Given the description of an element on the screen output the (x, y) to click on. 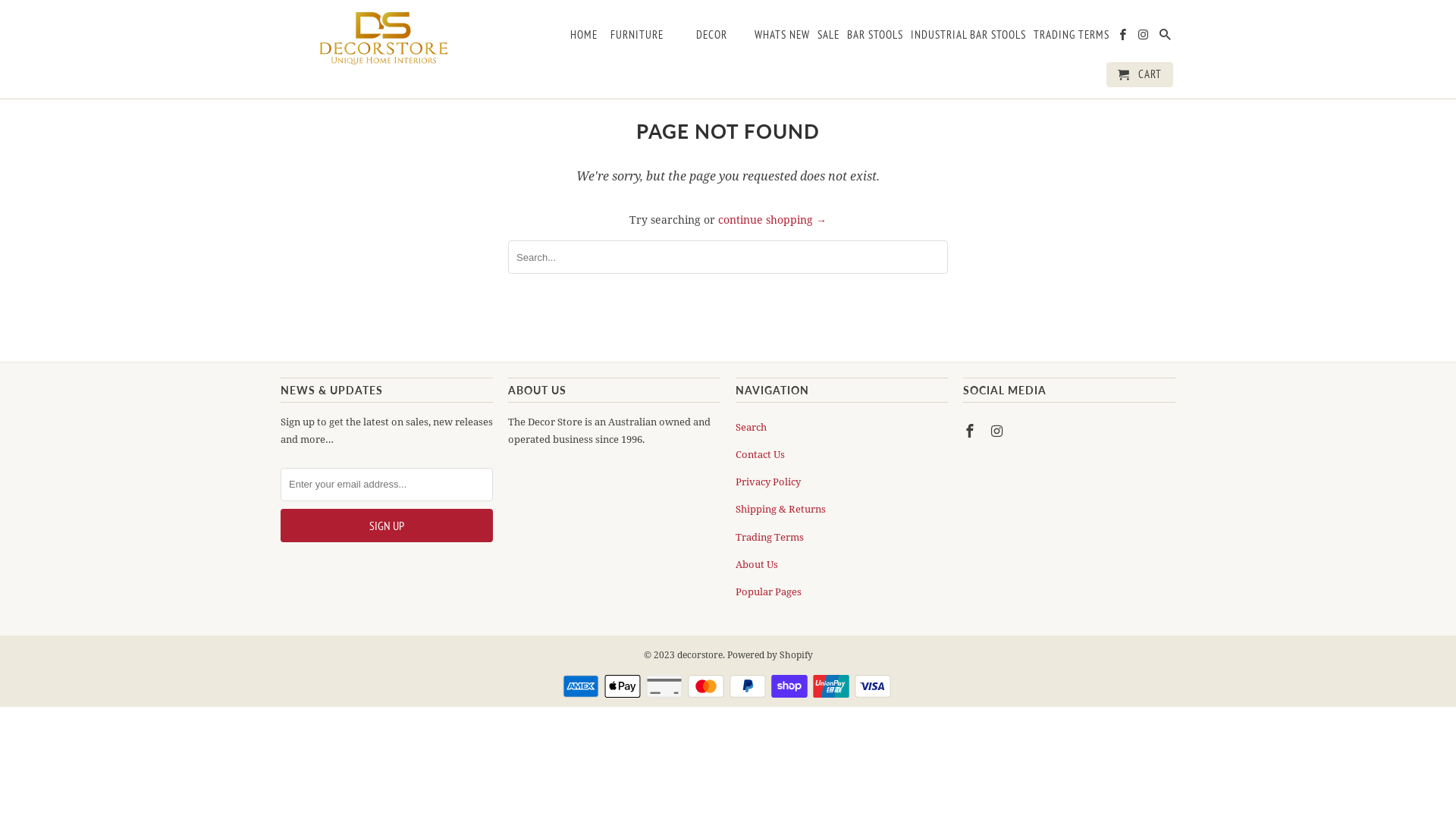
decorstore on Facebook Element type: hover (971, 430)
BAR STOOLS Element type: text (875, 37)
decorstore Element type: text (698, 654)
CART Element type: text (1139, 74)
TRADING TERMS Element type: text (1071, 37)
decorstore on Instagram Element type: hover (998, 430)
Trading Terms Element type: text (769, 535)
Popular Pages Element type: text (768, 591)
INDUSTRIAL BAR STOOLS Element type: text (968, 37)
Shipping & Returns Element type: text (780, 508)
About Us Element type: text (756, 564)
WHATS NEW Element type: text (781, 37)
Search Element type: text (750, 426)
decorstore Element type: hover (386, 37)
HOME Element type: text (583, 37)
decorstore on Facebook Element type: hover (1123, 37)
decorstore on Instagram Element type: hover (1144, 37)
SALE Element type: text (828, 37)
Powered by Shopify Element type: text (769, 654)
Contact Us Element type: text (759, 454)
Sign Up Element type: text (386, 525)
Search Element type: hover (1166, 37)
Privacy Policy Element type: text (767, 481)
